Given the description of an element on the screen output the (x, y) to click on. 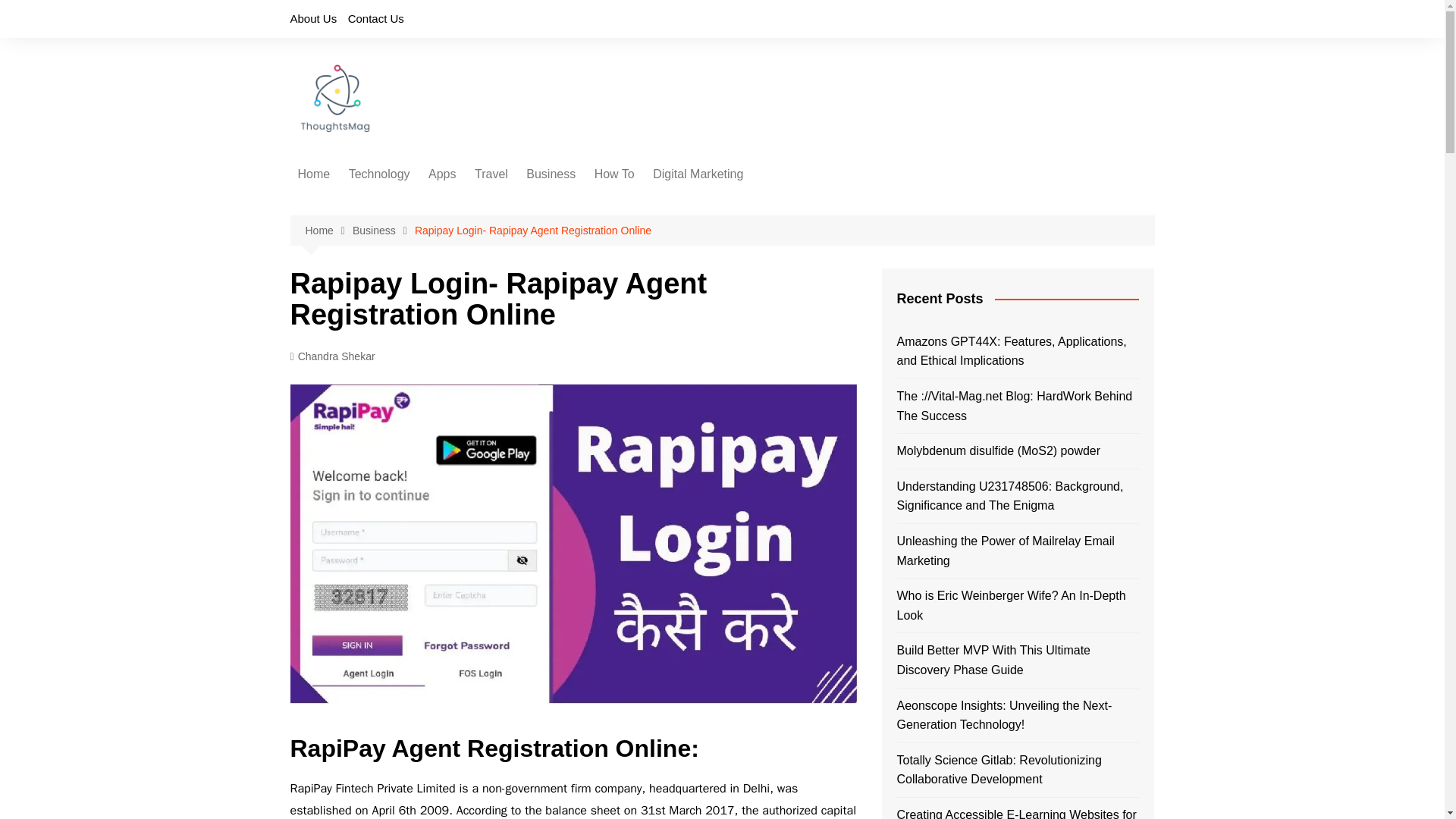
Home (313, 174)
Technology (378, 174)
How To (614, 174)
About Us (312, 18)
Business (550, 174)
Home (328, 230)
Contact Us (375, 18)
Apps (441, 174)
Business (383, 230)
Digital Marketing (698, 174)
Travel (491, 174)
Chandra Shekar (331, 356)
Rapipay Login- Rapipay Agent Registration Online (532, 230)
